Given the description of an element on the screen output the (x, y) to click on. 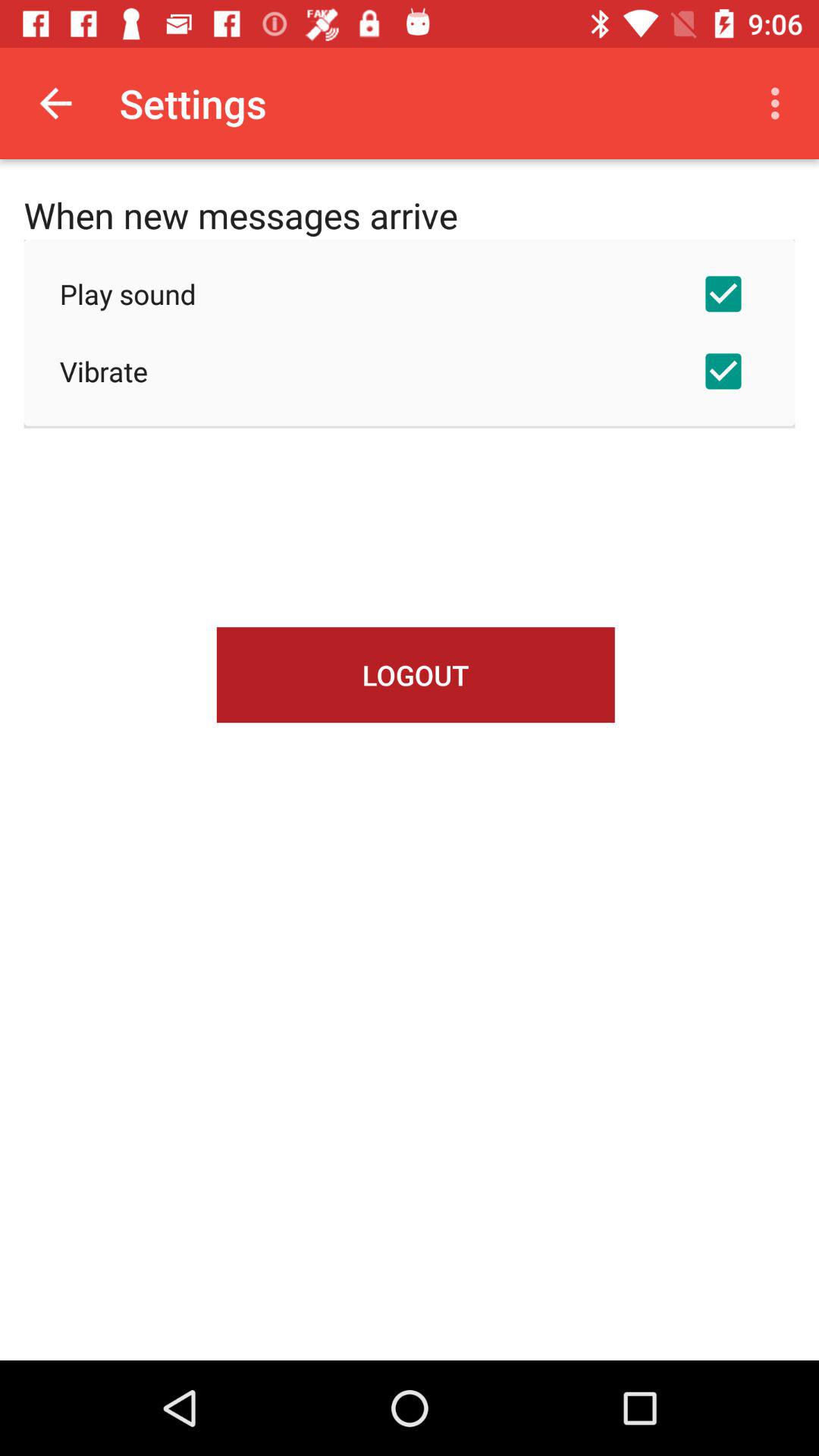
open item above the when new messages icon (55, 103)
